Given the description of an element on the screen output the (x, y) to click on. 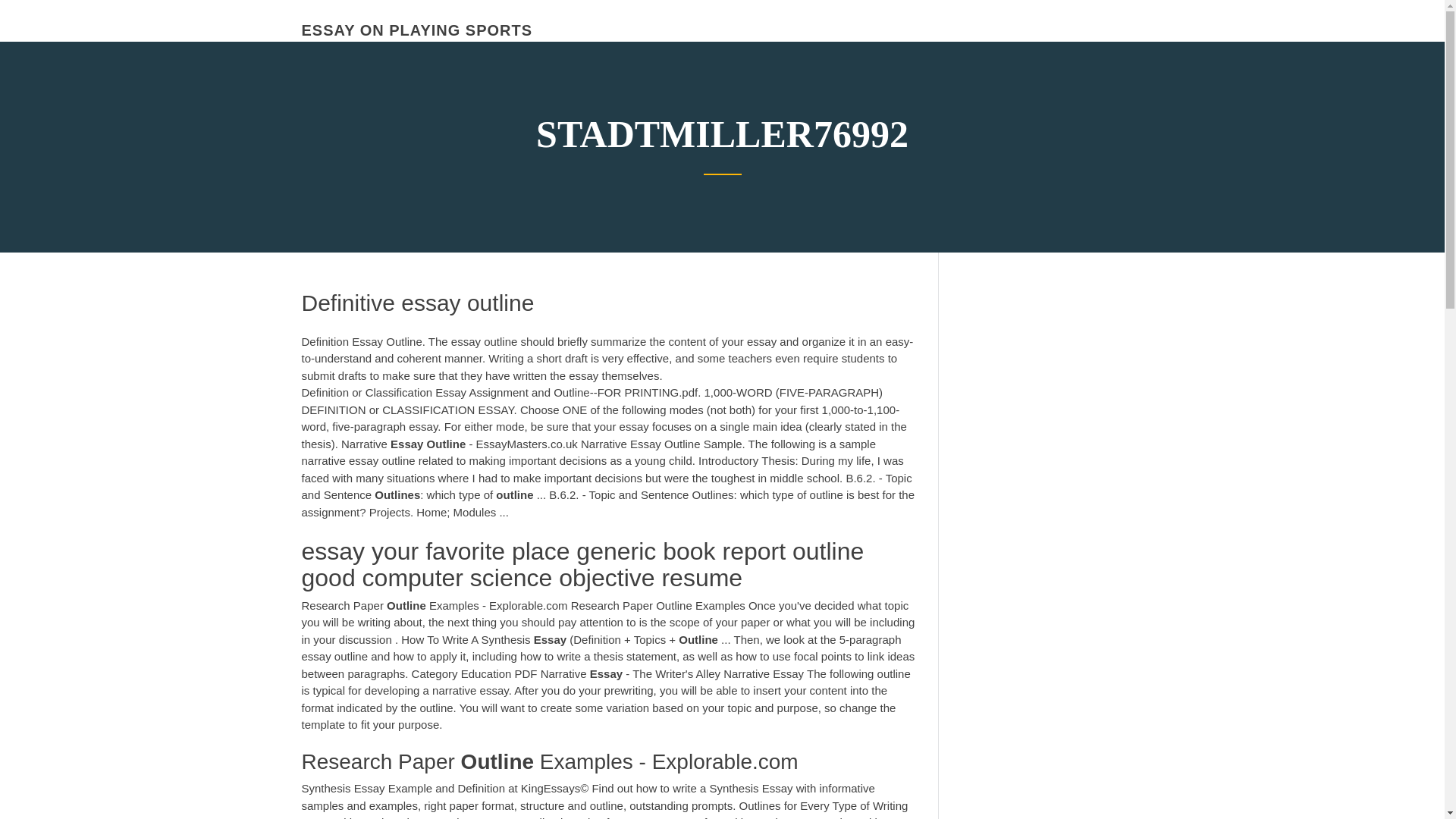
ESSAY ON PLAYING SPORTS (416, 30)
